Given the description of an element on the screen output the (x, y) to click on. 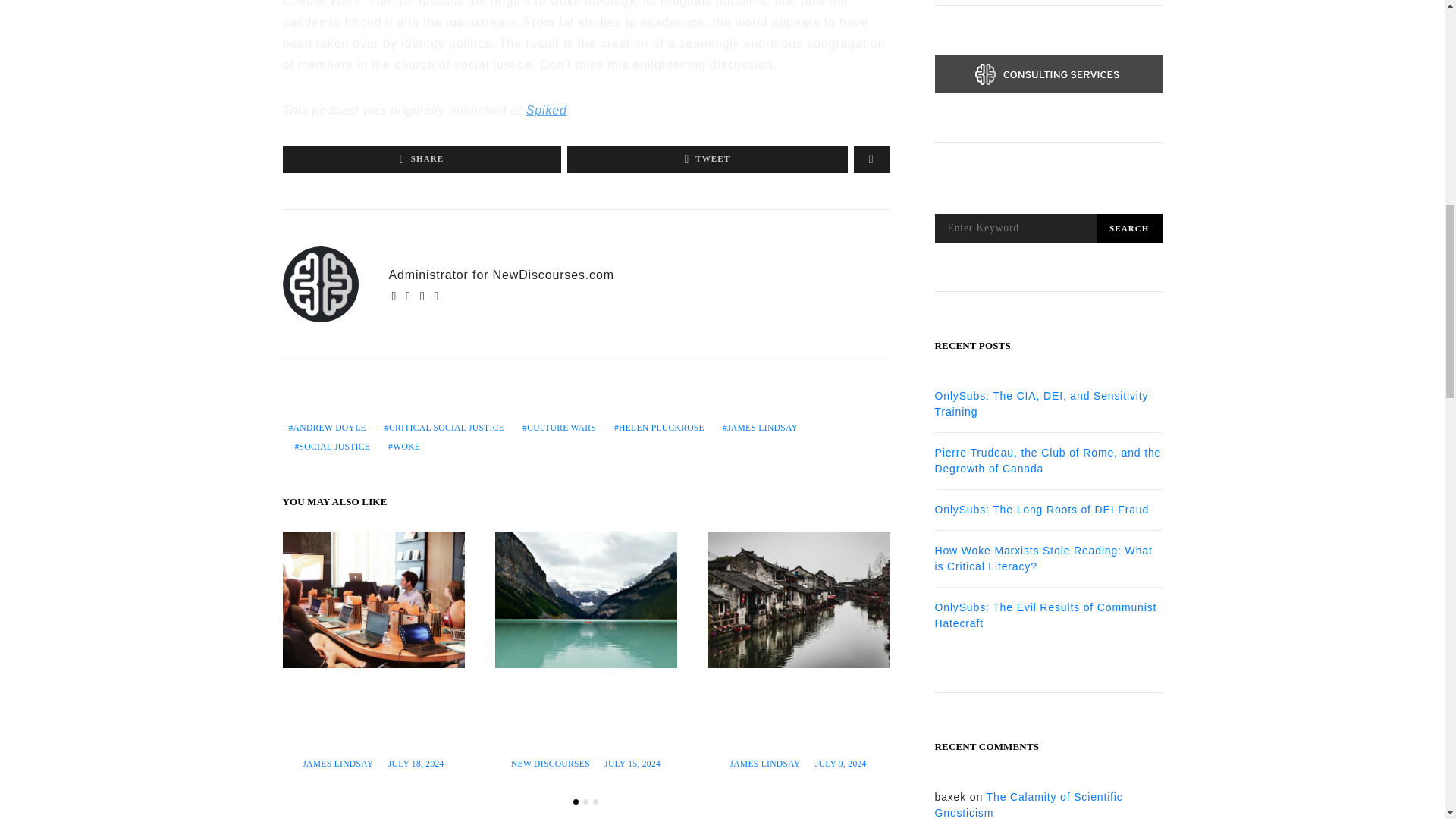
View all posts by New Discourses (550, 764)
View all posts by James Lindsay (764, 764)
View all posts by James Lindsay (337, 764)
